Given the description of an element on the screen output the (x, y) to click on. 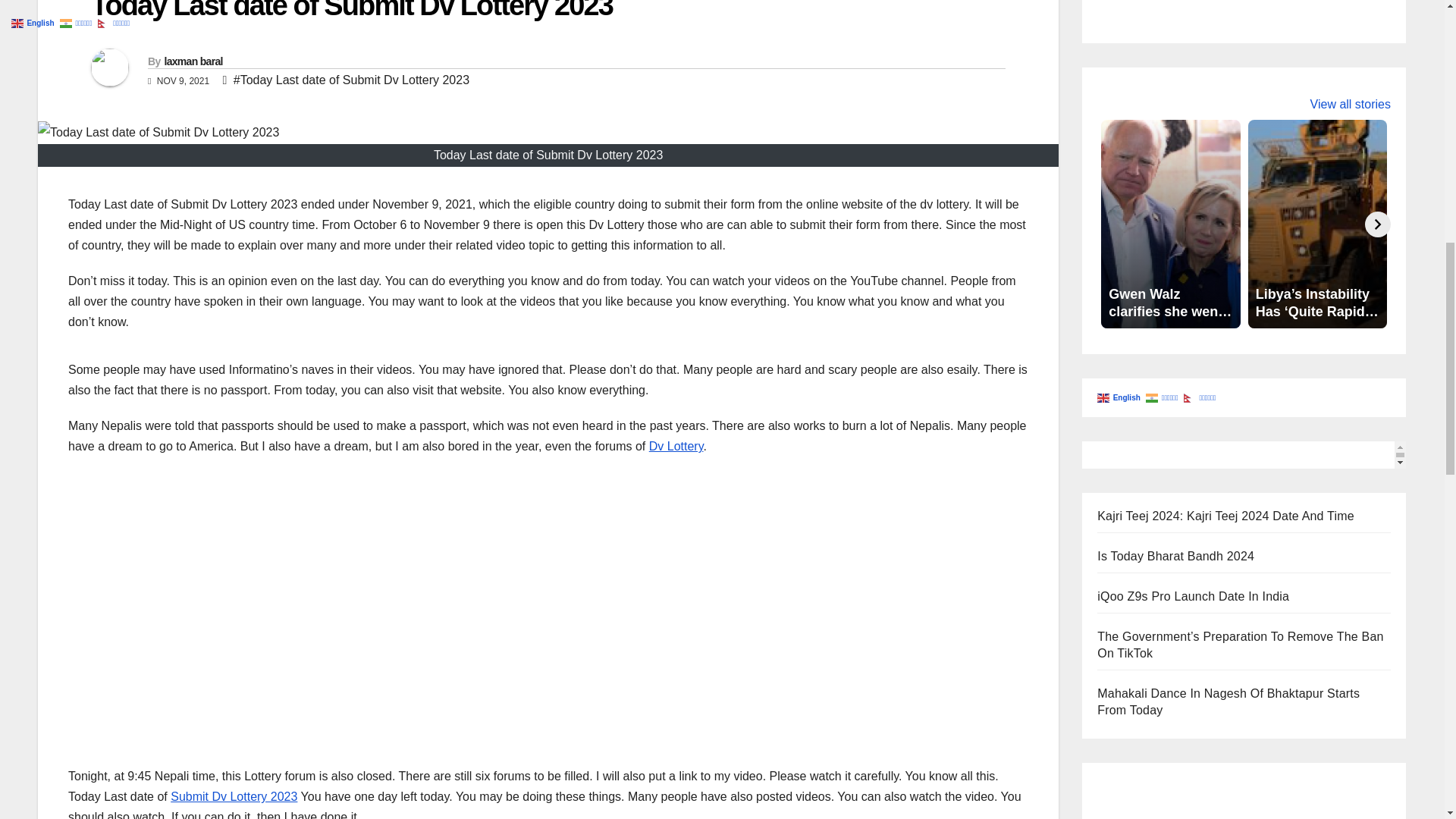
Permalink to: Today Last date of Submit Dv Lottery 2023 (351, 10)
Dv Lottery (676, 445)
Today Last date of Submit Dv Lottery 2023 (351, 10)
laxman baral (192, 61)
Submit Dv Lottery 2023 (233, 796)
